Given the description of an element on the screen output the (x, y) to click on. 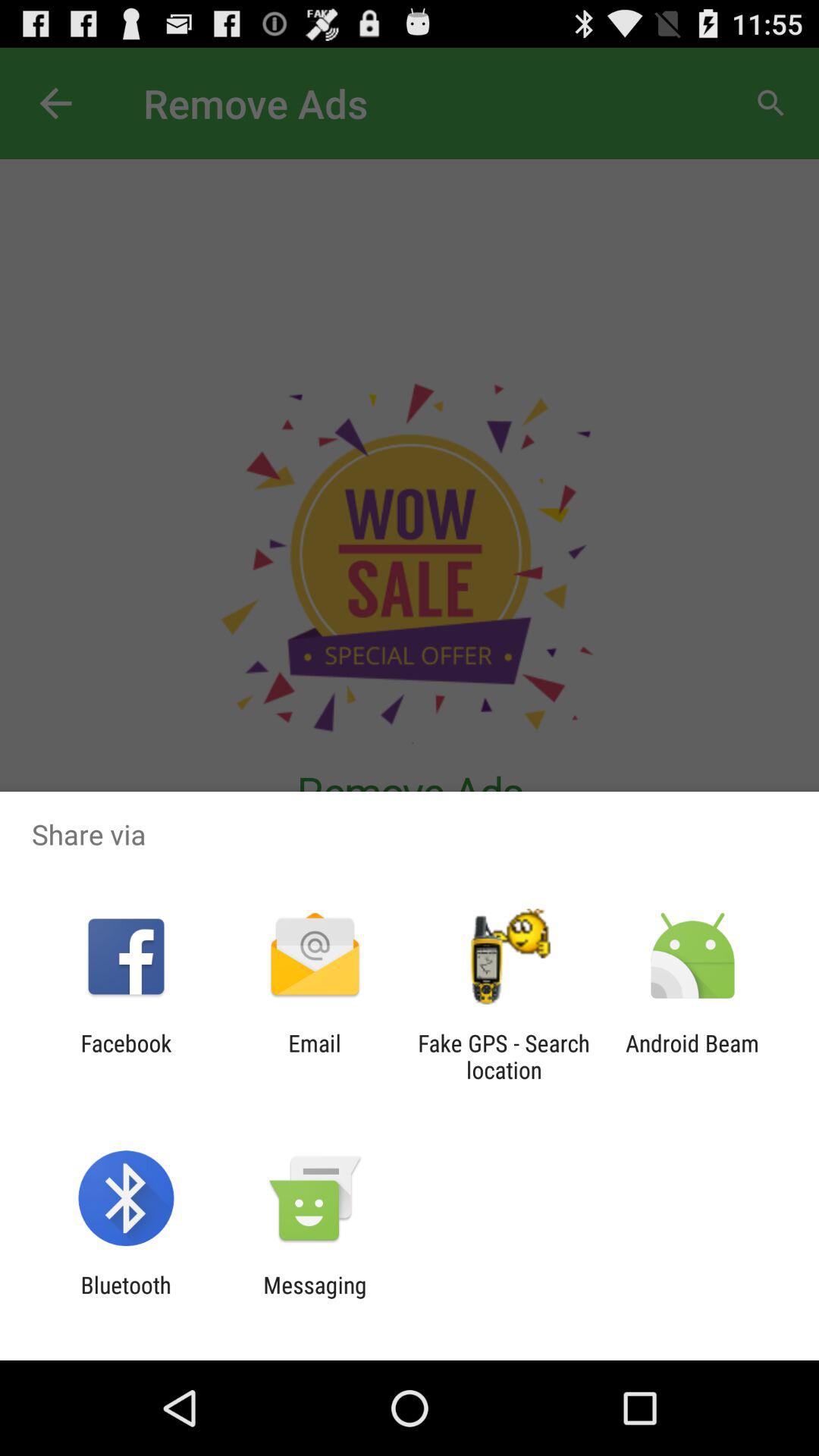
press the icon next to android beam (503, 1056)
